Given the description of an element on the screen output the (x, y) to click on. 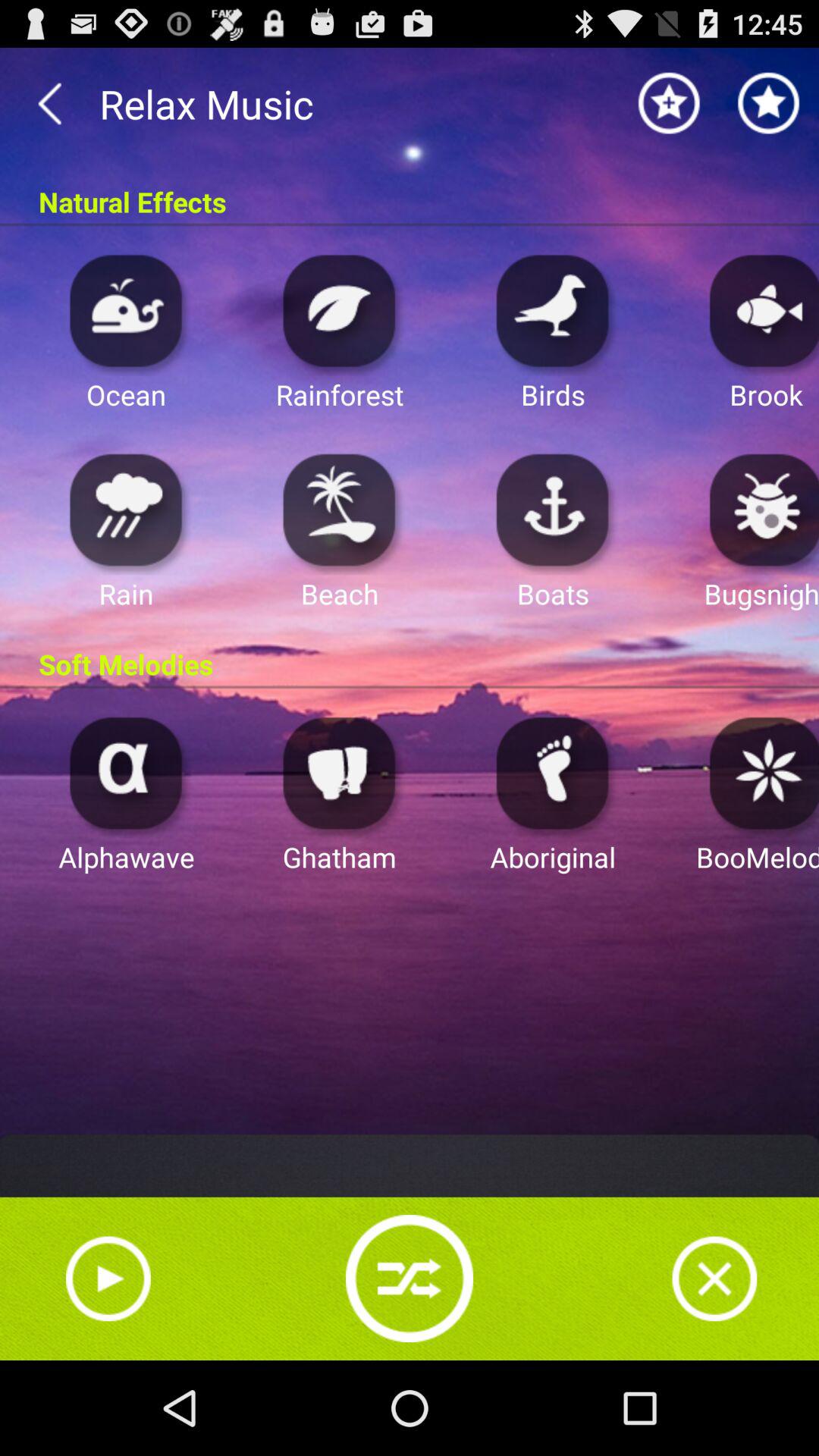
select next song beach (339, 509)
